Given the description of an element on the screen output the (x, y) to click on. 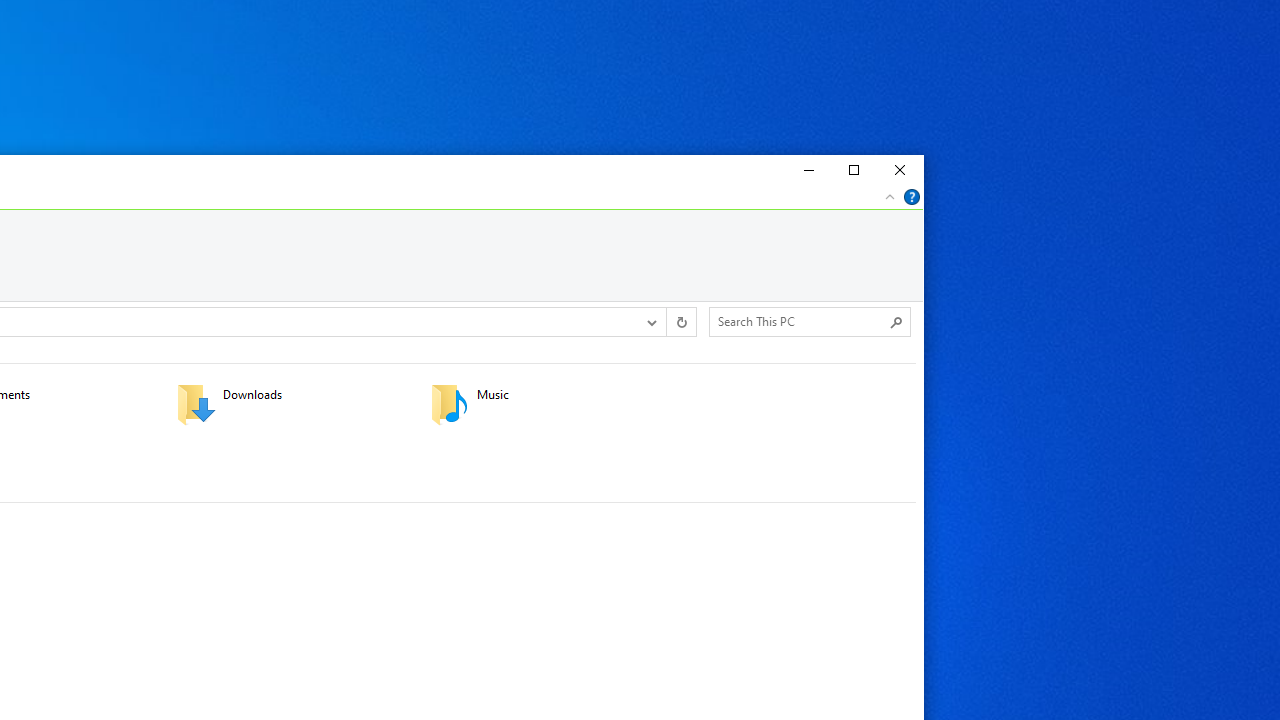
Minimize the Ribbon (890, 196)
Maximize (853, 170)
Help (911, 196)
Refresh "This PC" (F5) (680, 321)
Minimize (806, 170)
Name (569, 395)
Search Box (799, 321)
Downloads (291, 403)
Address band toolbar (666, 321)
Close (900, 170)
Search (896, 321)
Music (544, 403)
Previous Locations (650, 321)
